Given the description of an element on the screen output the (x, y) to click on. 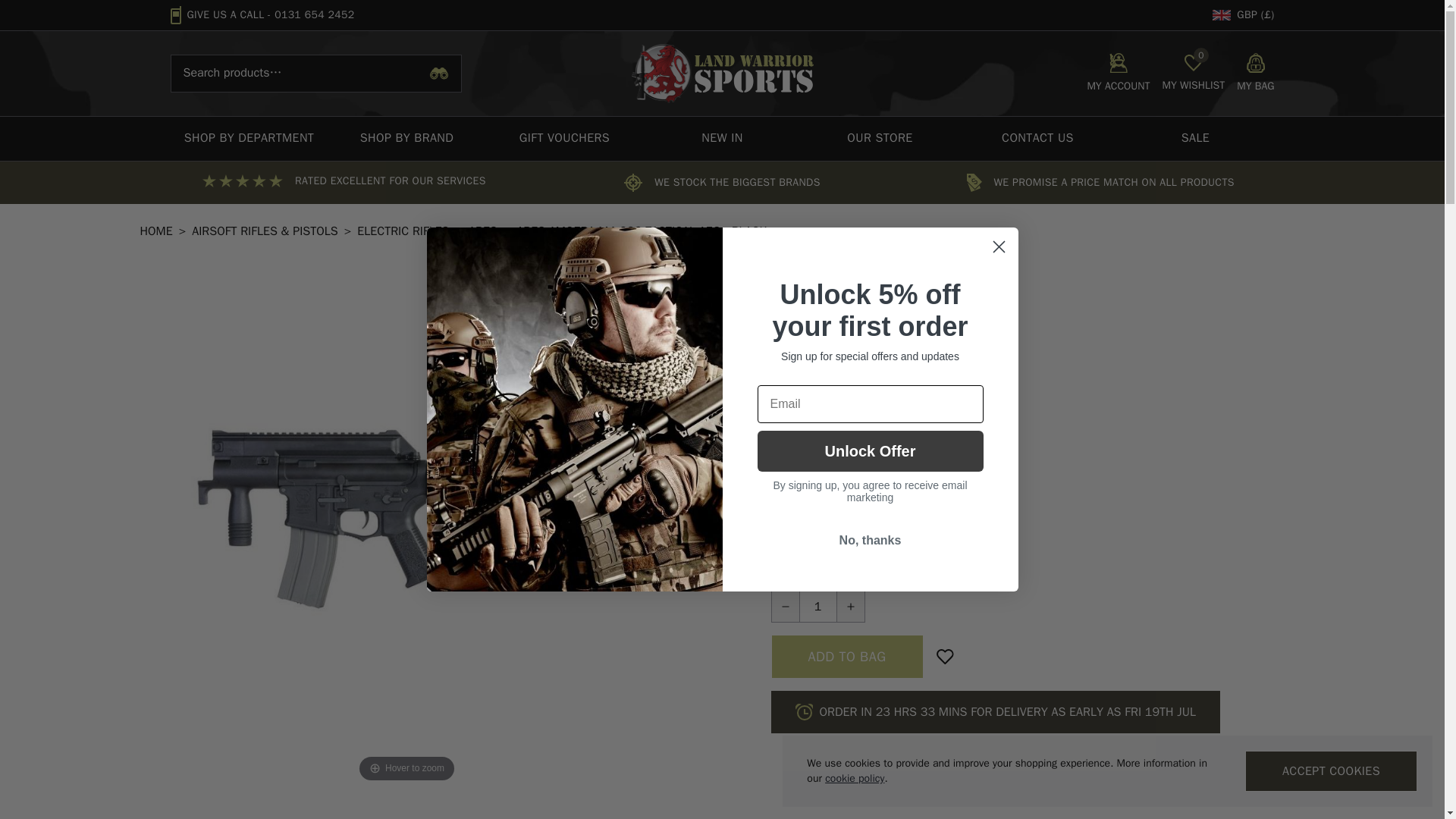
0131 654 2452 (314, 14)
MY ACCOUNT (1118, 73)
SHOP BY DEPARTMENT (1192, 73)
MY BAG (248, 138)
1 (1255, 73)
3 (775, 433)
2 (775, 481)
1 (775, 457)
